Given the description of an element on the screen output the (x, y) to click on. 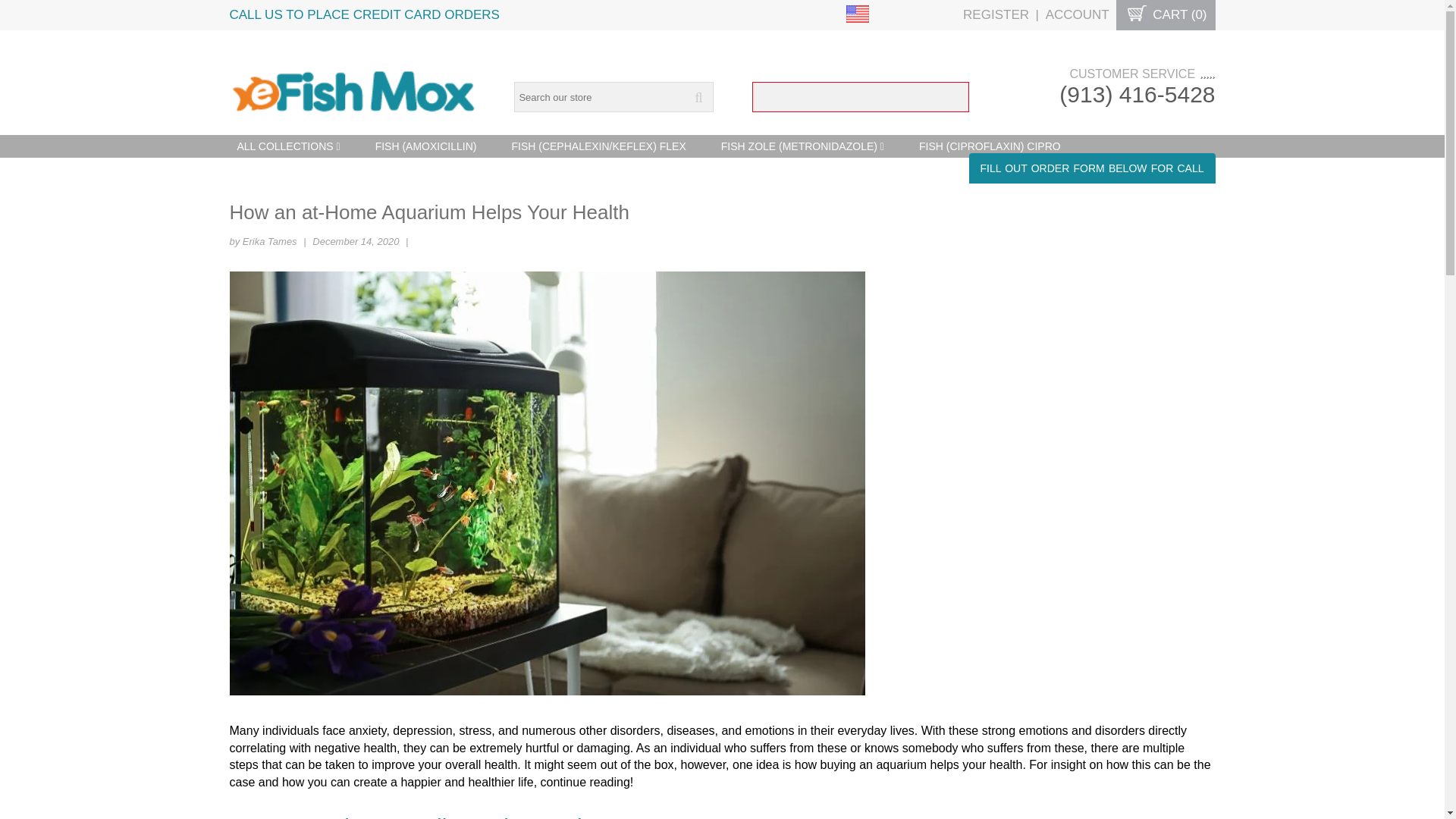
Account (1077, 14)
Fill out Order form below for call back (1092, 168)
ALL COLLECTIONS (287, 146)
Register (995, 14)
eFishMox (352, 82)
REGISTER (995, 14)
FILL OUT ORDER FORM BELOW FOR CALL BACK (1092, 168)
ACCOUNT (1077, 14)
